Given the description of an element on the screen output the (x, y) to click on. 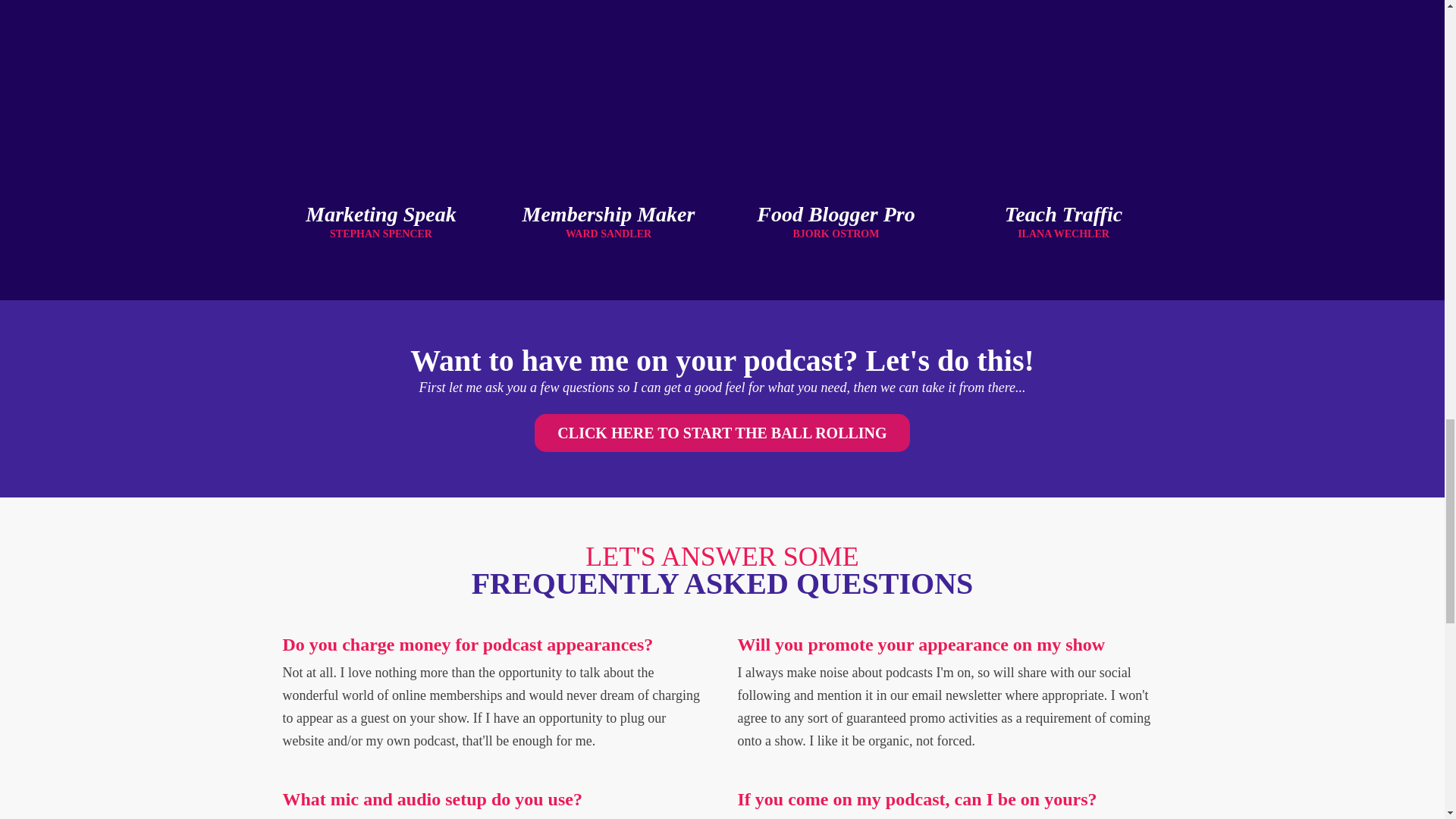
Marketing Speak (380, 214)
Food Blogger Pro (835, 214)
Membership Maker (608, 214)
